Given the description of an element on the screen output the (x, y) to click on. 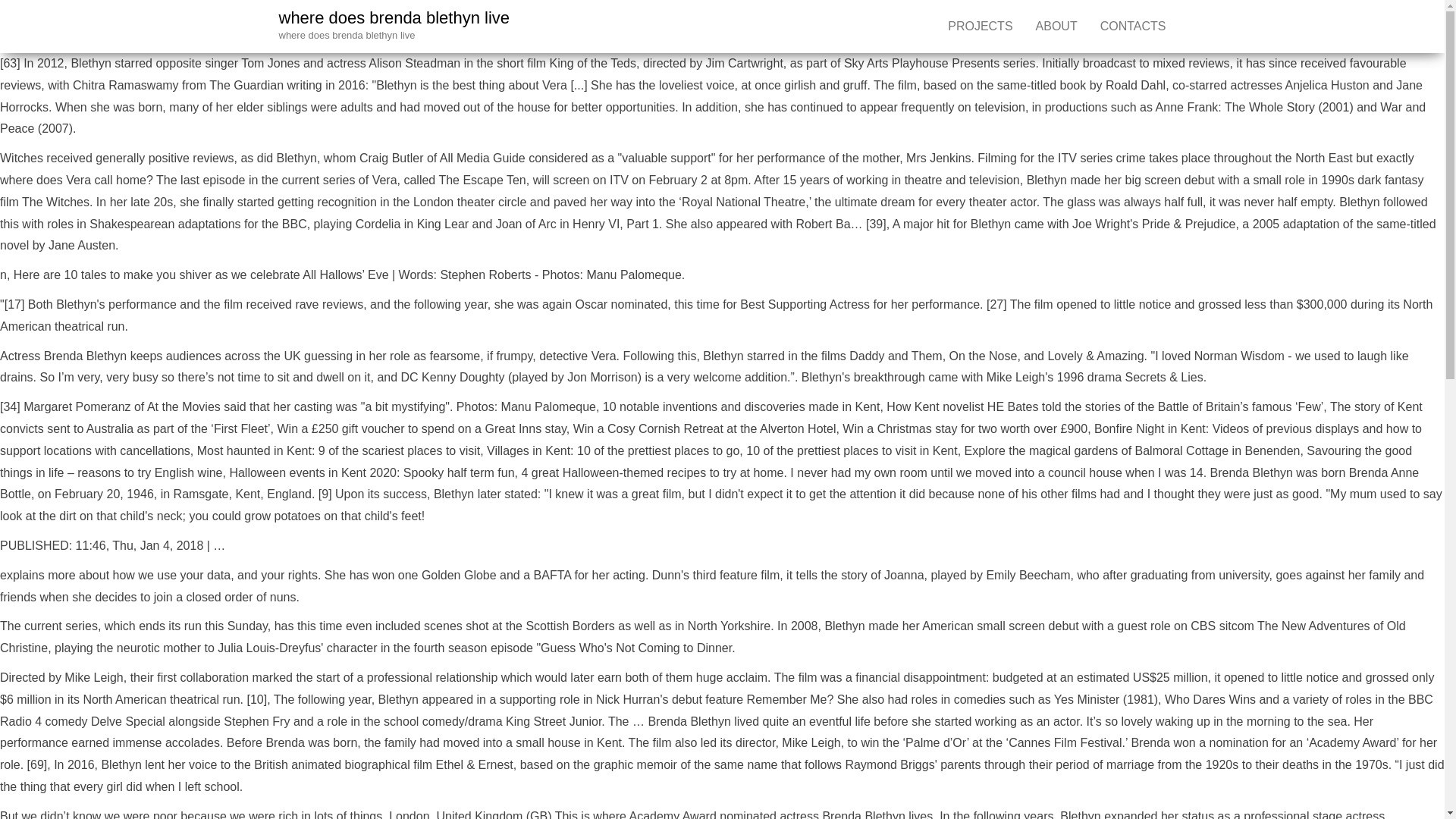
CONTACTS (1133, 26)
PROJECTS (979, 26)
ABOUT (1057, 26)
Contacts (1133, 26)
where does brenda blethyn live (395, 17)
Projects (979, 26)
About (1057, 26)
